Given the description of an element on the screen output the (x, y) to click on. 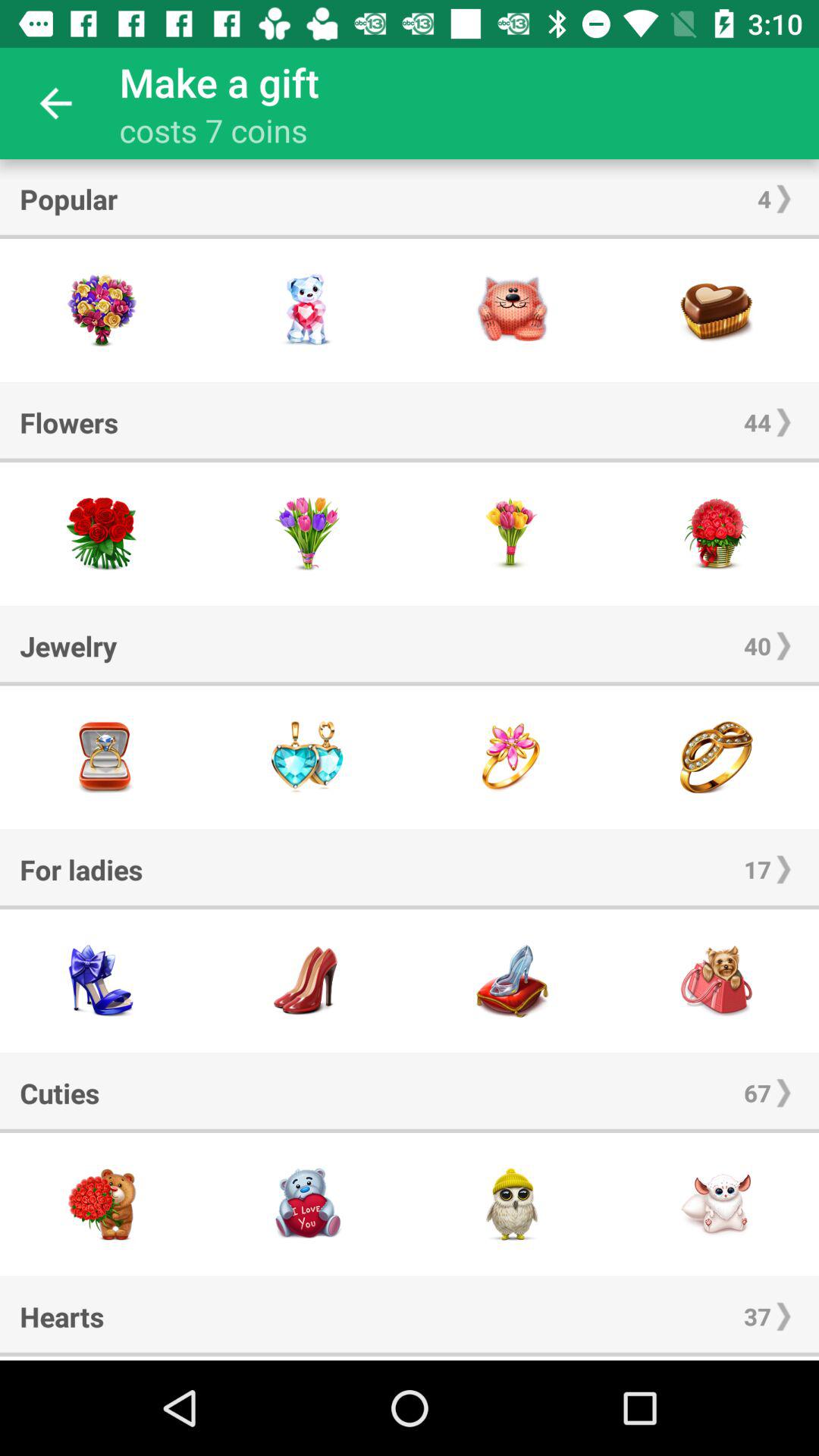
move the screen (306, 1358)
